Given the description of an element on the screen output the (x, y) to click on. 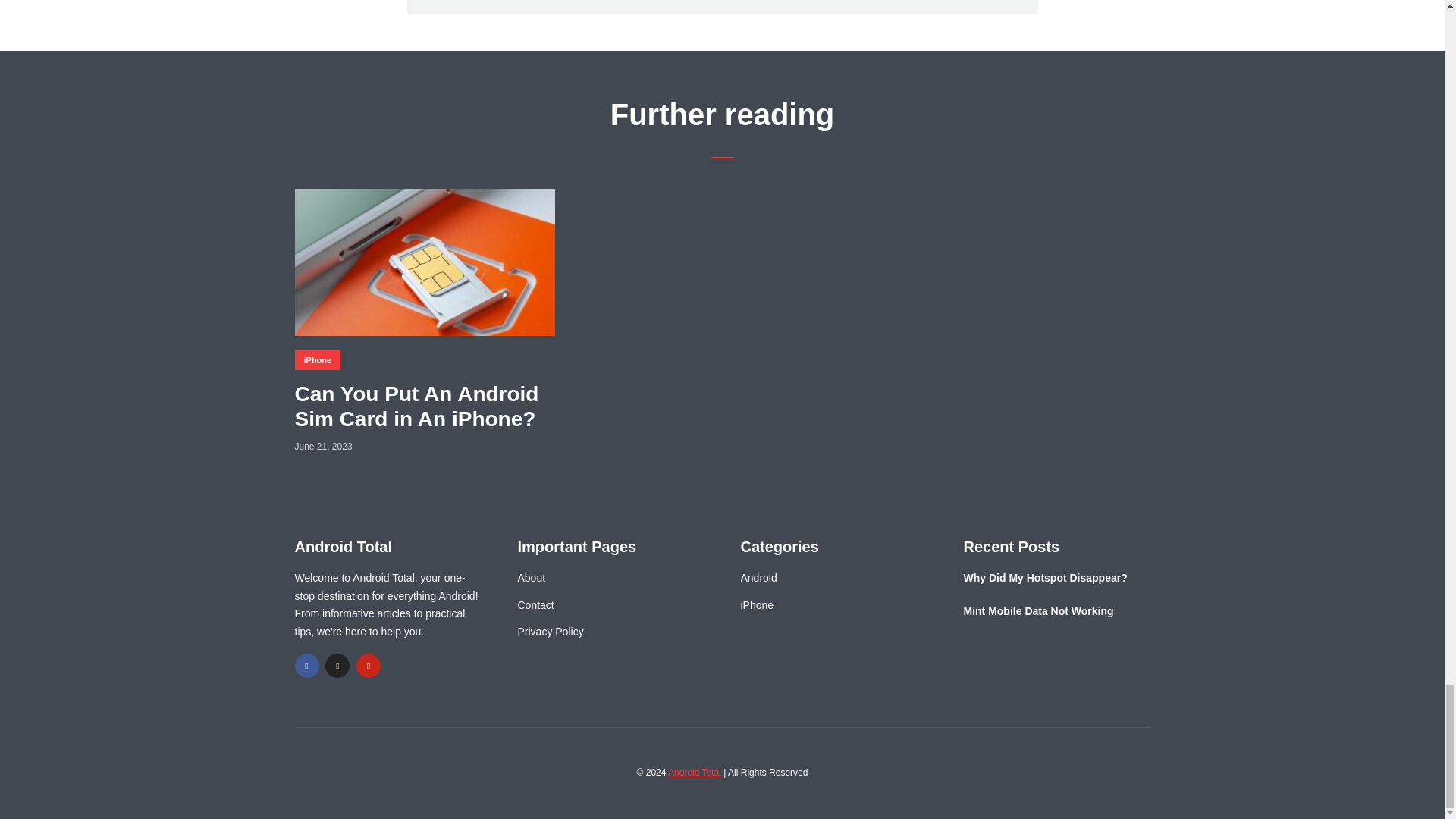
Pinterest (368, 665)
Facebook (306, 665)
Can You Put An Android Sim Card in An iPhone? (424, 406)
iPhone (317, 360)
pinterest (368, 665)
facebook (306, 665)
twitter (336, 665)
